Given the description of an element on the screen output the (x, y) to click on. 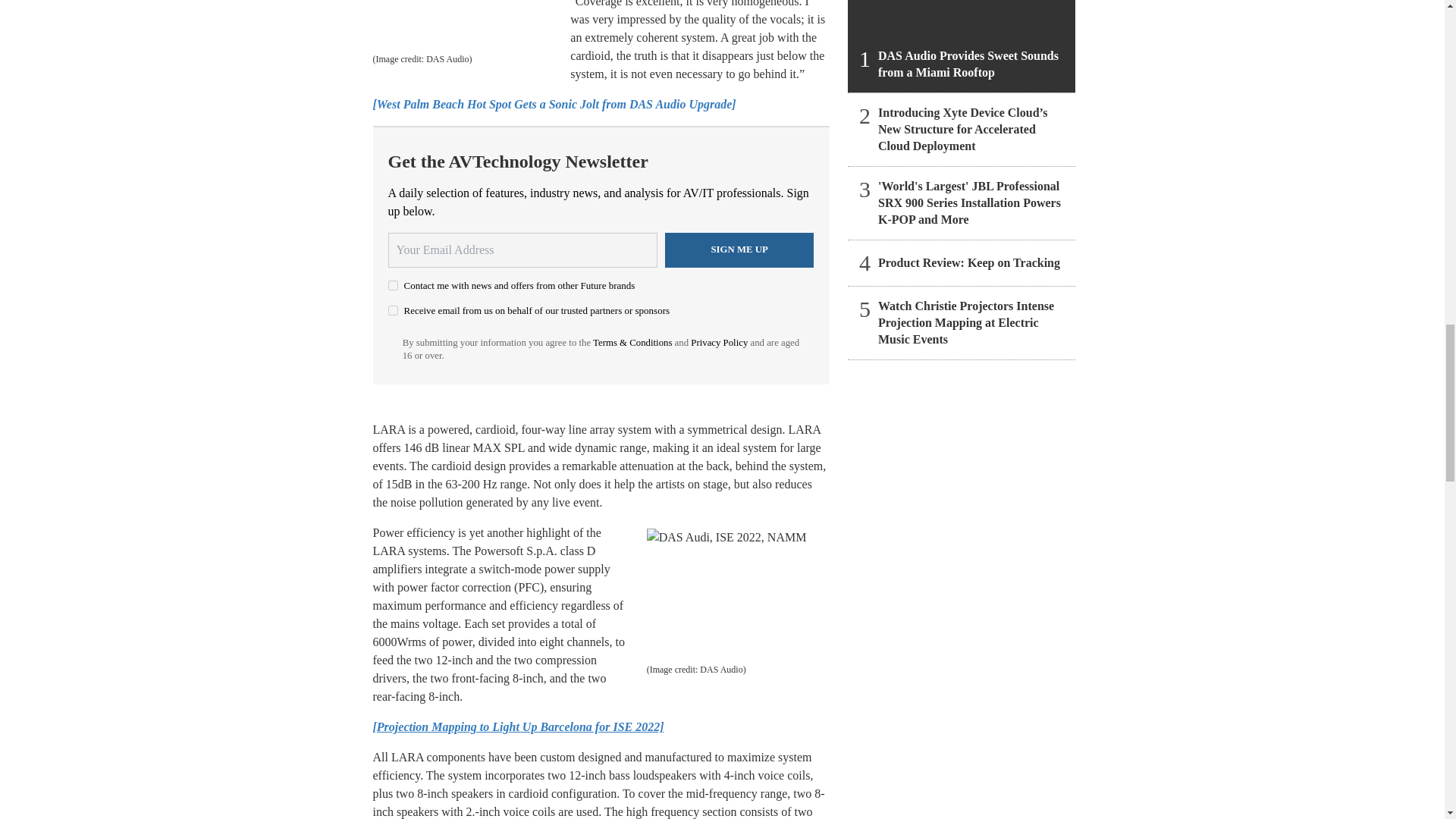
Sign me up (739, 249)
on (392, 285)
on (392, 310)
DAS Audio Provides Sweet Sounds from a Miami Rooftop (961, 46)
